Given the description of an element on the screen output the (x, y) to click on. 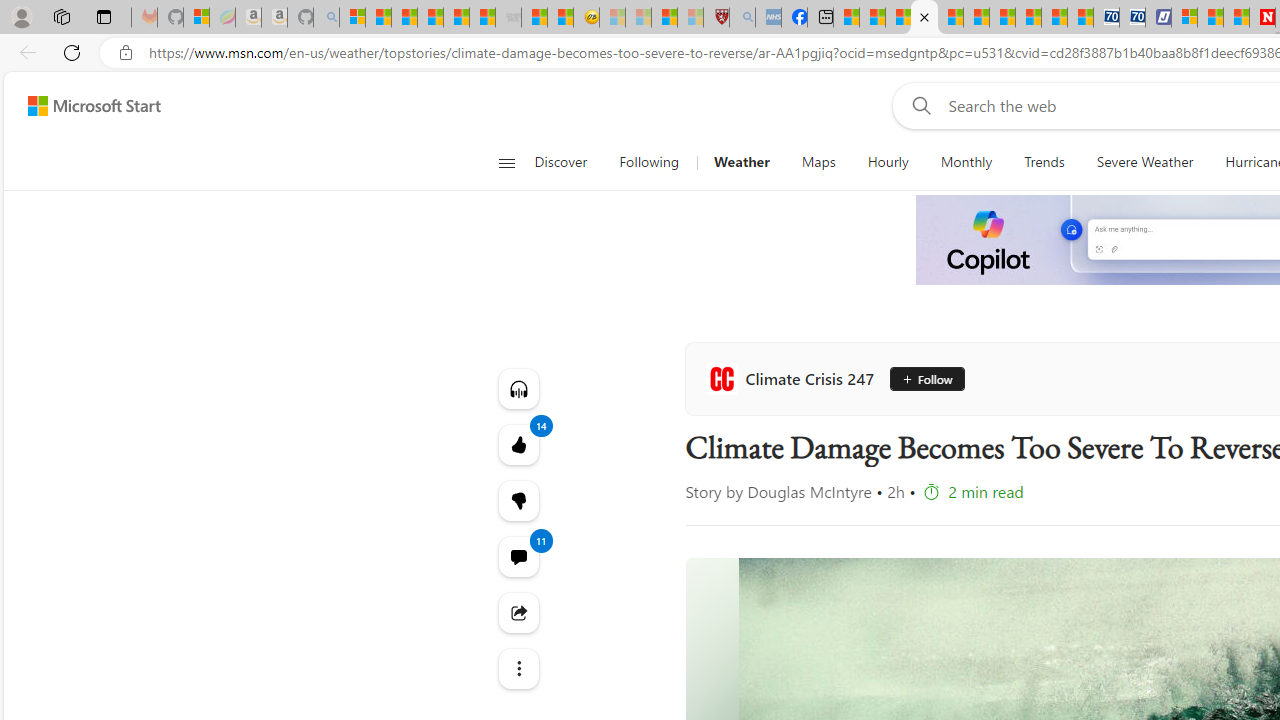
New Report Confirms 2023 Was Record Hot | Watch (456, 17)
Monthly (966, 162)
